Given the description of an element on the screen output the (x, y) to click on. 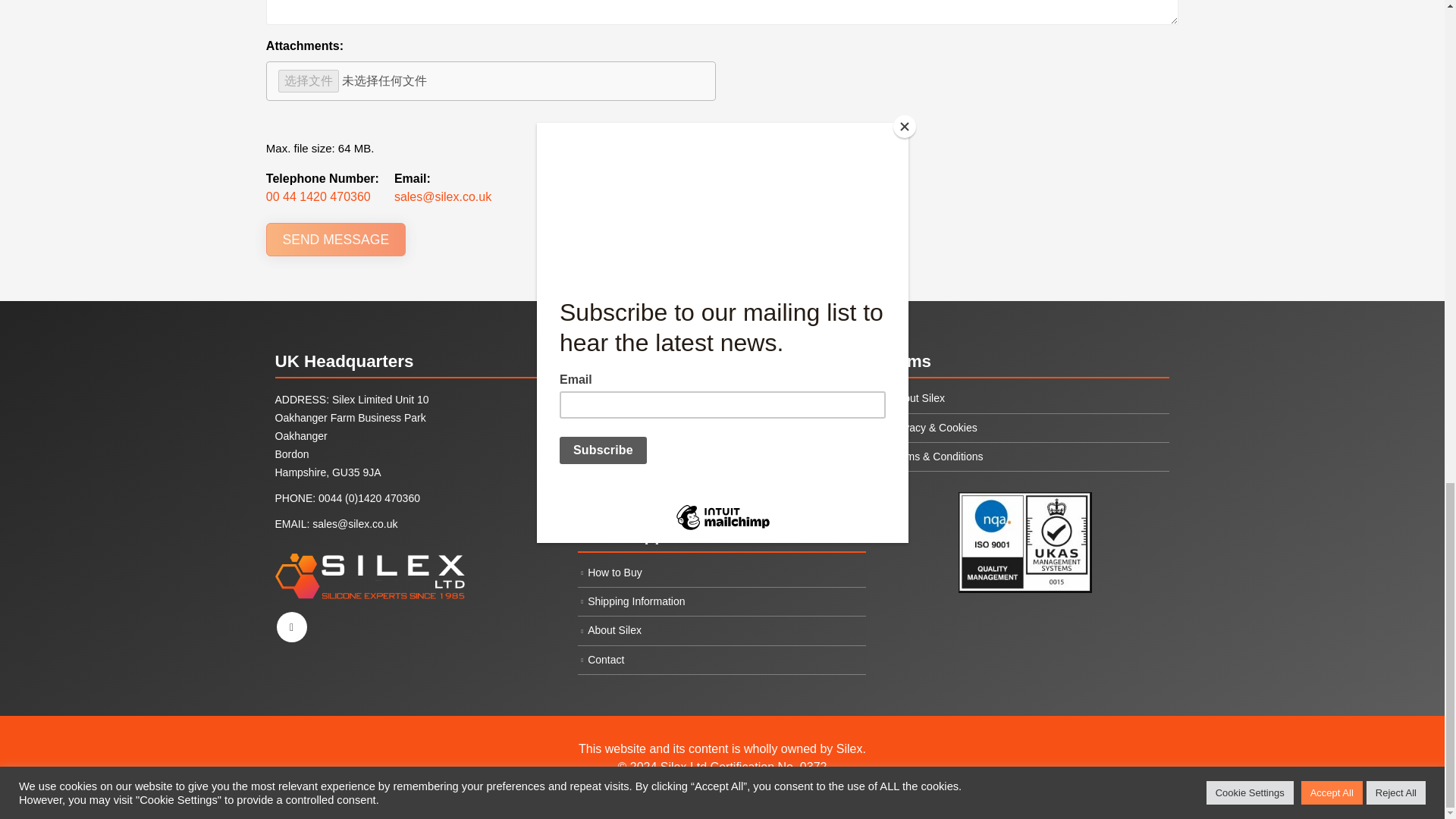
SEND MESSAGE (336, 239)
